Given the description of an element on the screen output the (x, y) to click on. 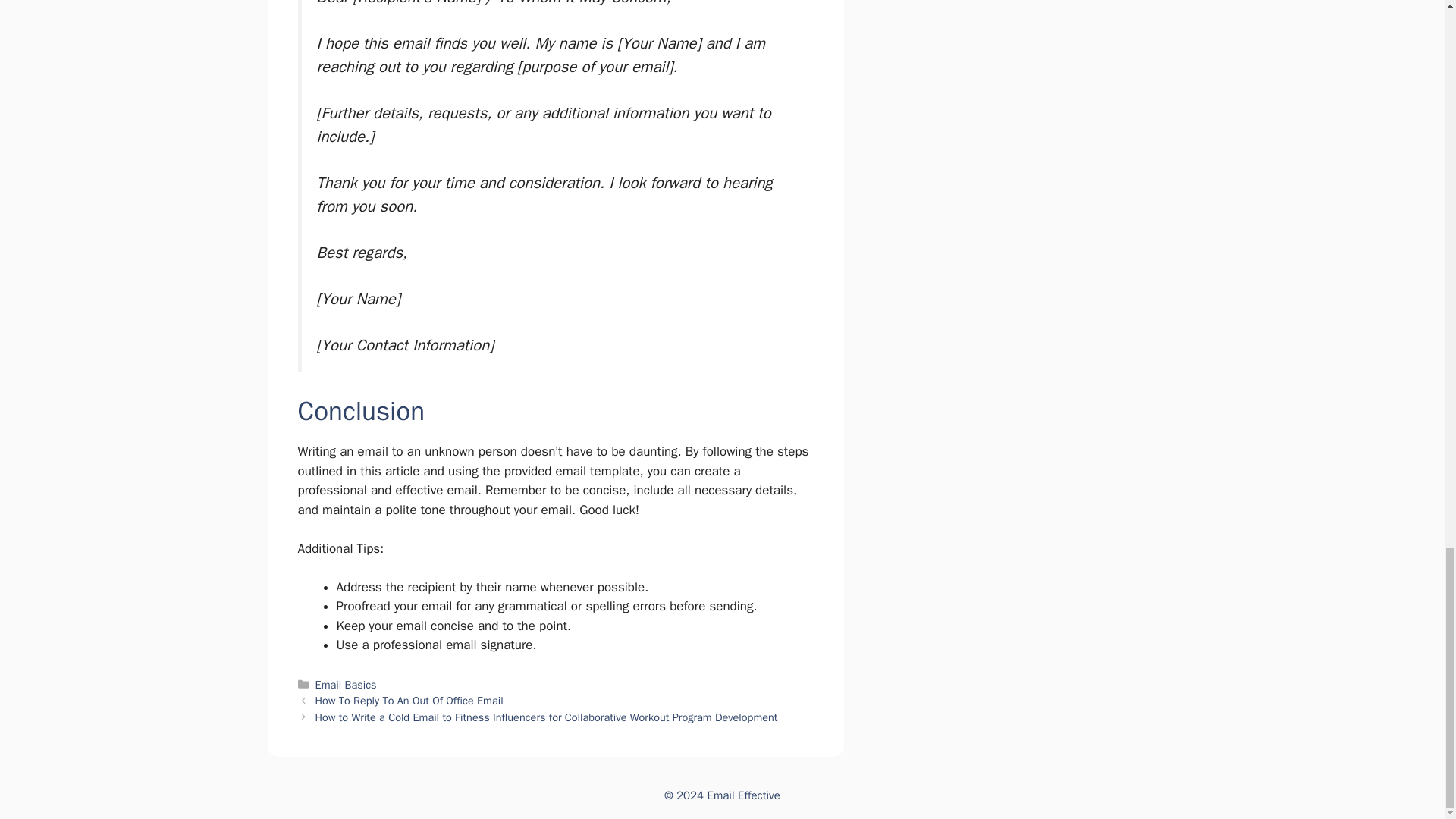
How To Reply To An Out Of Office Email (409, 700)
Email Basics (346, 684)
